Given the description of an element on the screen output the (x, y) to click on. 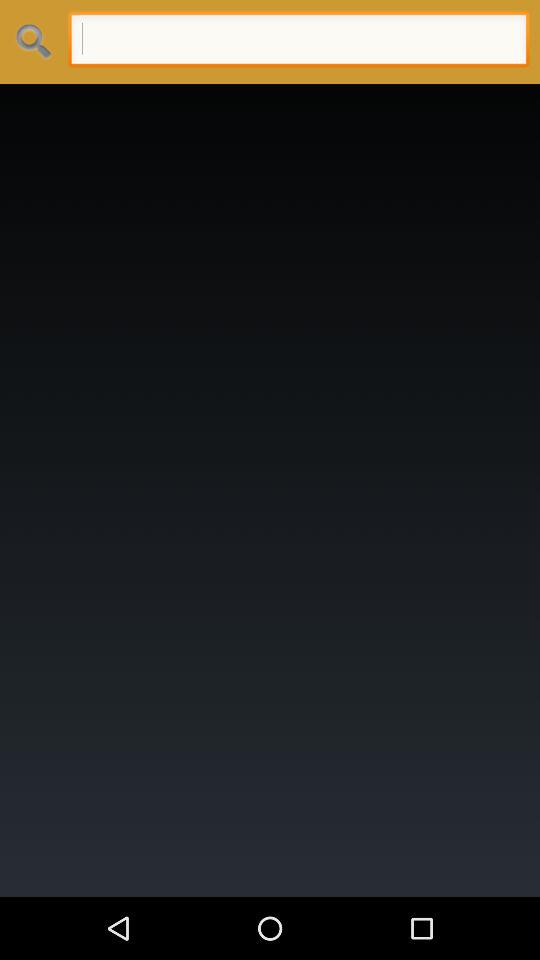
type search (298, 41)
